Given the description of an element on the screen output the (x, y) to click on. 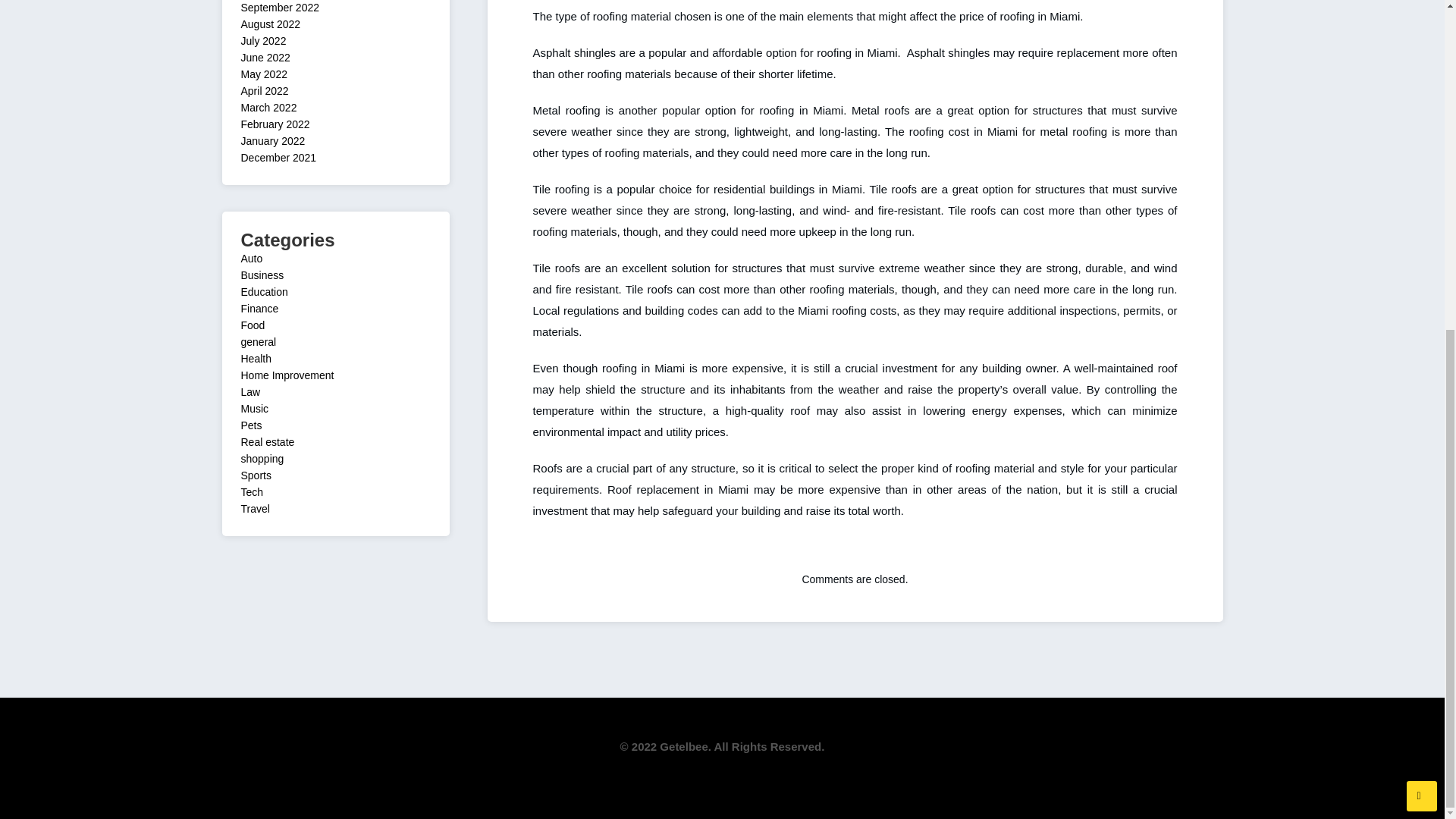
April 2022 (264, 91)
March 2022 (269, 107)
February 2022 (275, 123)
July 2022 (263, 40)
June 2022 (265, 57)
May 2022 (263, 73)
August 2022 (271, 24)
September 2022 (280, 7)
January 2022 (273, 141)
